Given the description of an element on the screen output the (x, y) to click on. 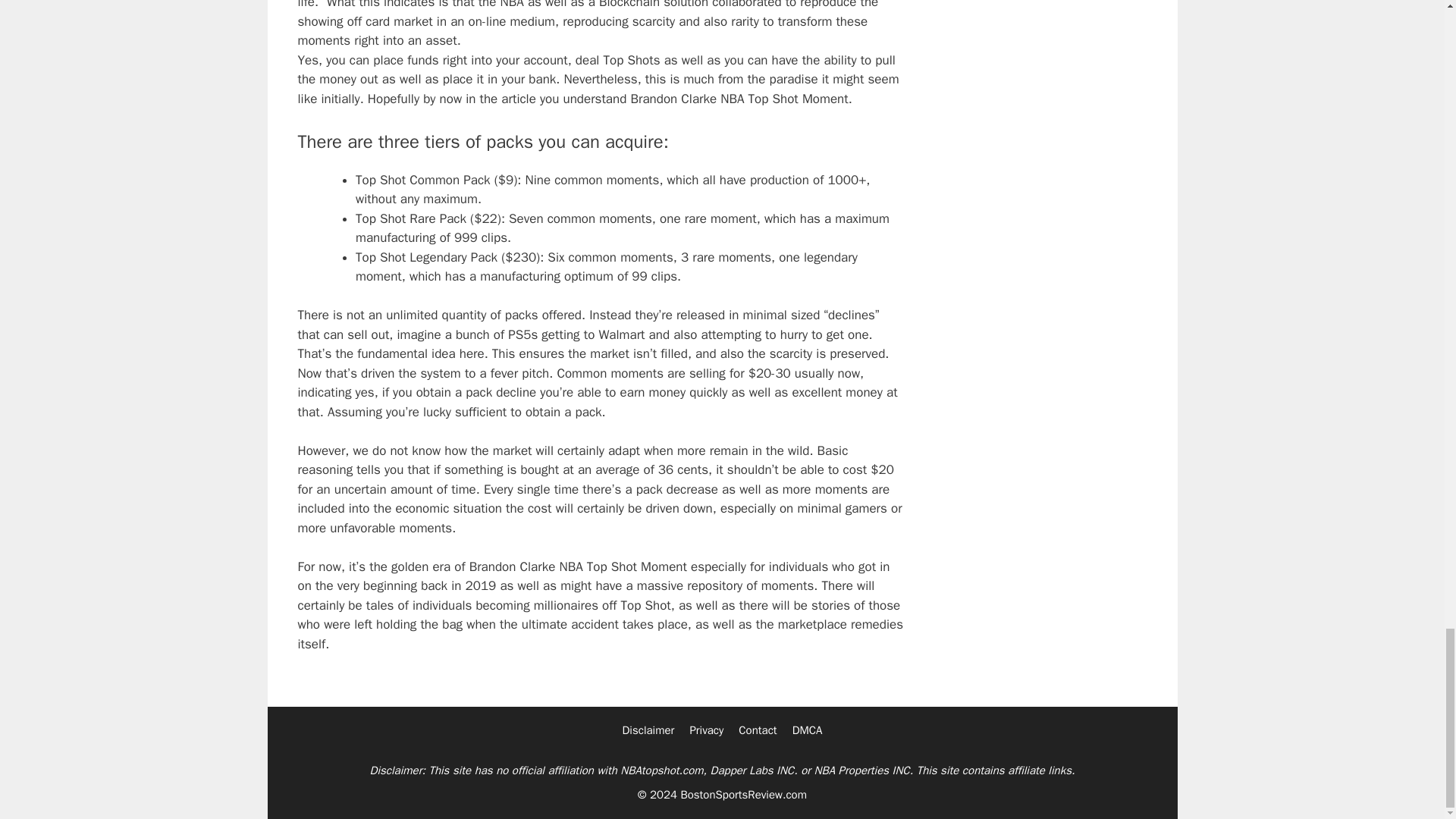
Disclaimer (647, 730)
DMCA (807, 730)
Privacy (705, 730)
Contact (757, 730)
